Given the description of an element on the screen output the (x, y) to click on. 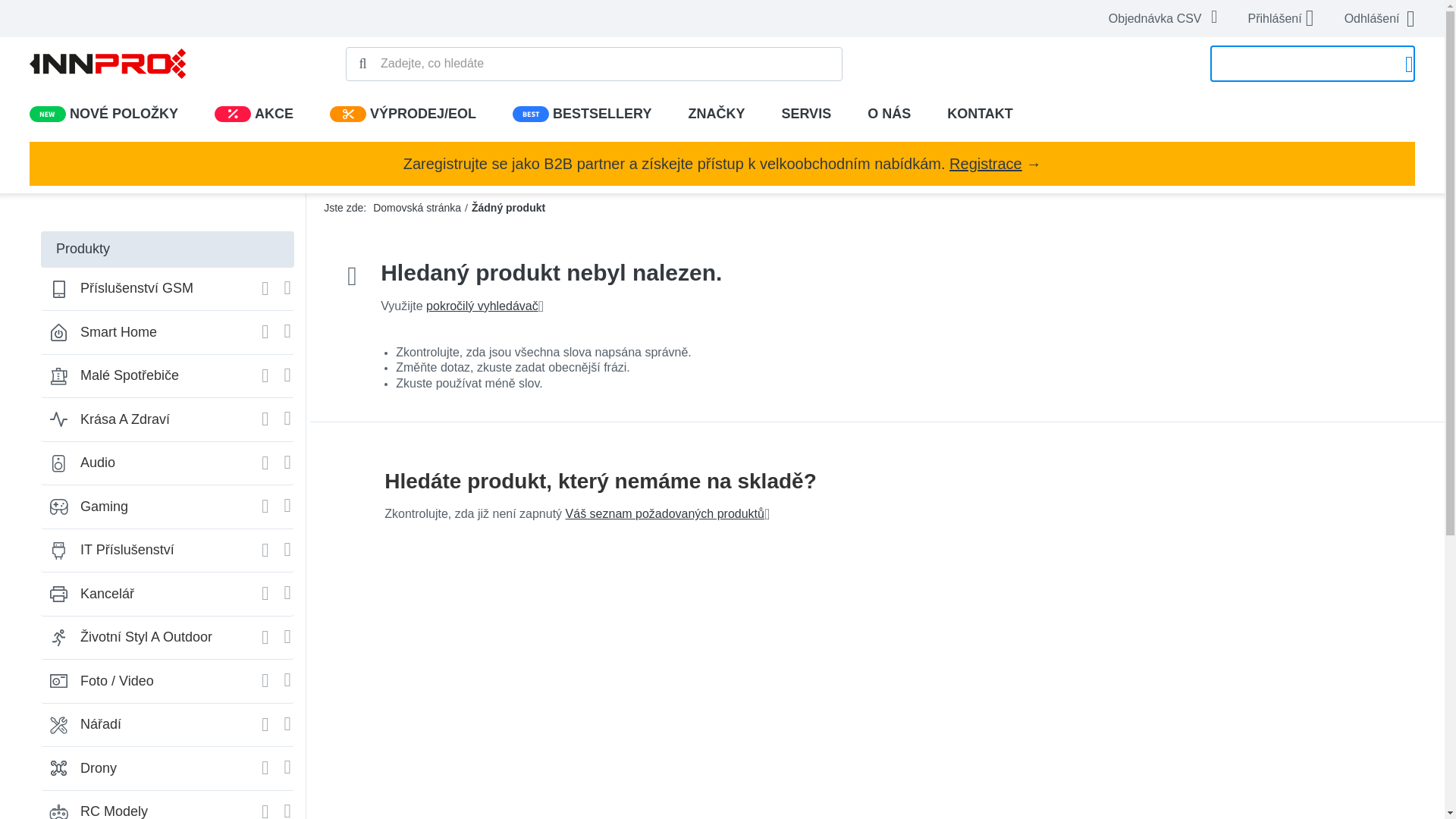
KONTAKT (980, 113)
SERVIS (805, 113)
SERVIS (805, 113)
Registrace (985, 163)
AKCE (232, 114)
BESTSELLERY (581, 113)
BESTSELLERY (581, 113)
KONTAKT (980, 113)
AKCE (254, 113)
BESTSELLERY (530, 114)
